Given the description of an element on the screen output the (x, y) to click on. 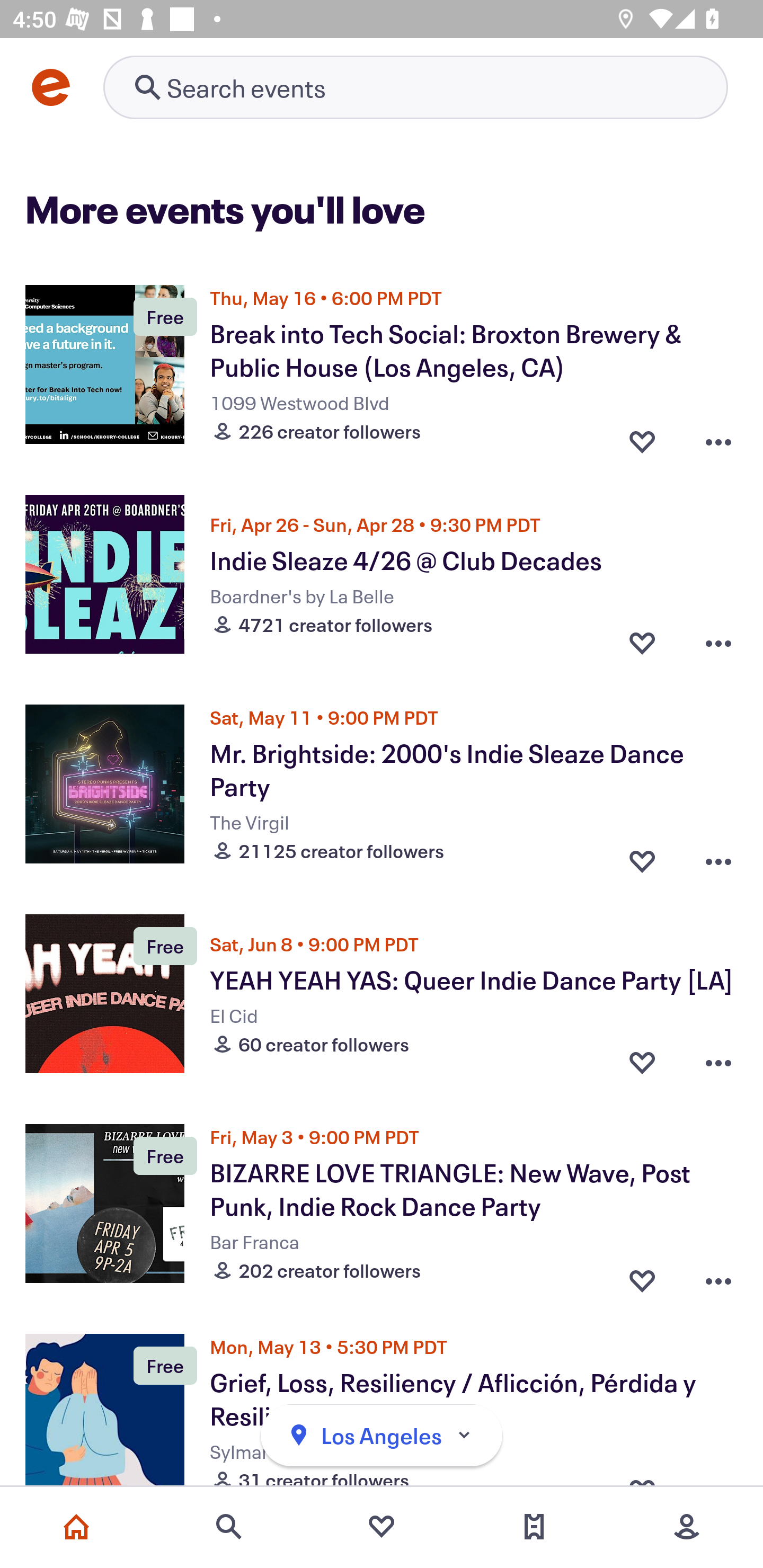
Retry's image Search events (415, 86)
Favorite button (642, 436)
Overflow menu button (718, 436)
Favorite button (642, 641)
Overflow menu button (718, 641)
Favorite button (642, 856)
Overflow menu button (718, 856)
Favorite button (642, 1062)
Overflow menu button (718, 1062)
Favorite button (642, 1275)
Overflow menu button (718, 1275)
Los Angeles (381, 1435)
Home (76, 1526)
Search events (228, 1526)
Favorites (381, 1526)
Tickets (533, 1526)
More (686, 1526)
